Given the description of an element on the screen output the (x, y) to click on. 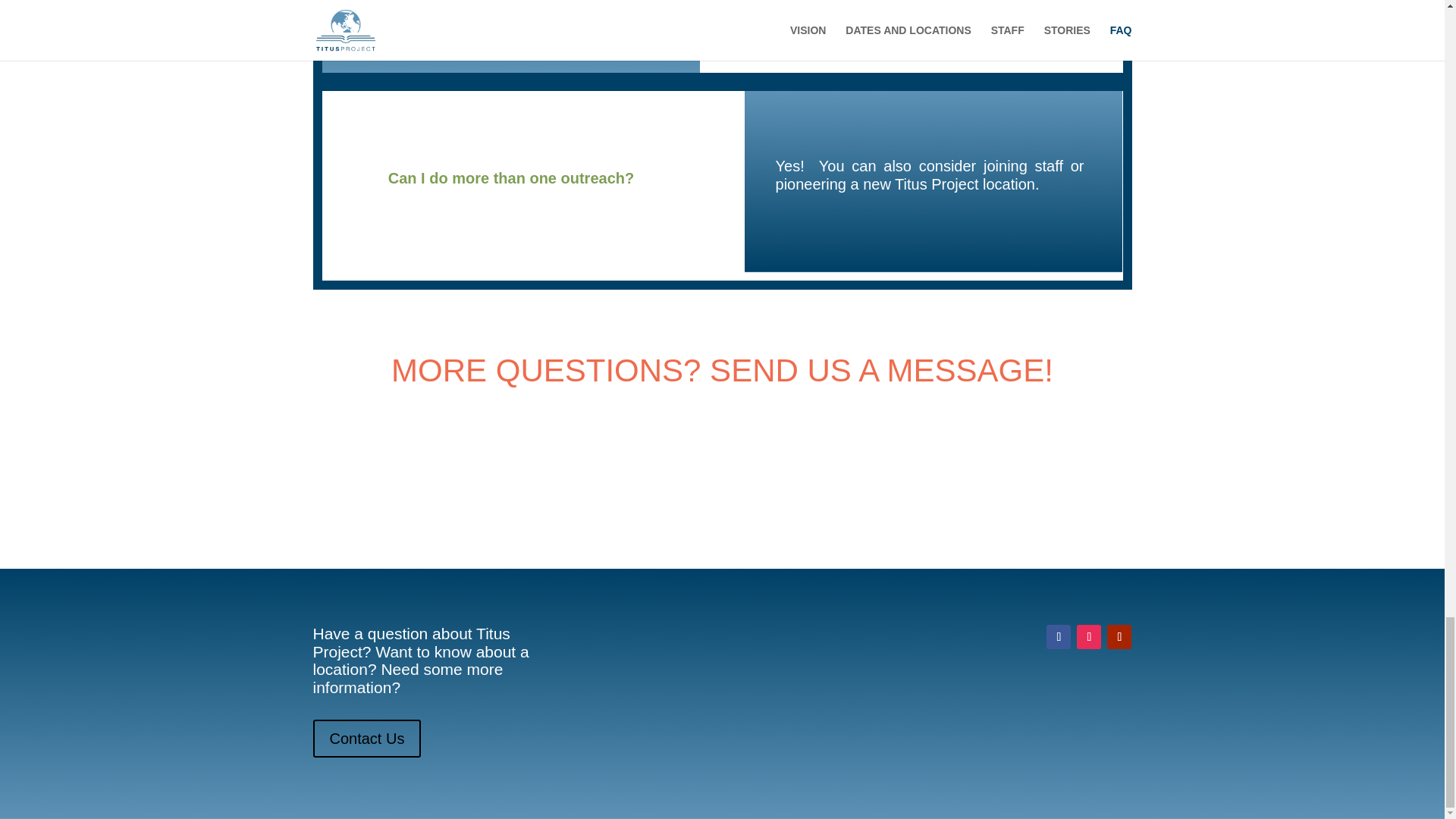
Follow on Youtube (1118, 636)
Follow on Facebook (1058, 636)
Follow on Instagram (1088, 636)
Contact Us (366, 738)
